Given the description of an element on the screen output the (x, y) to click on. 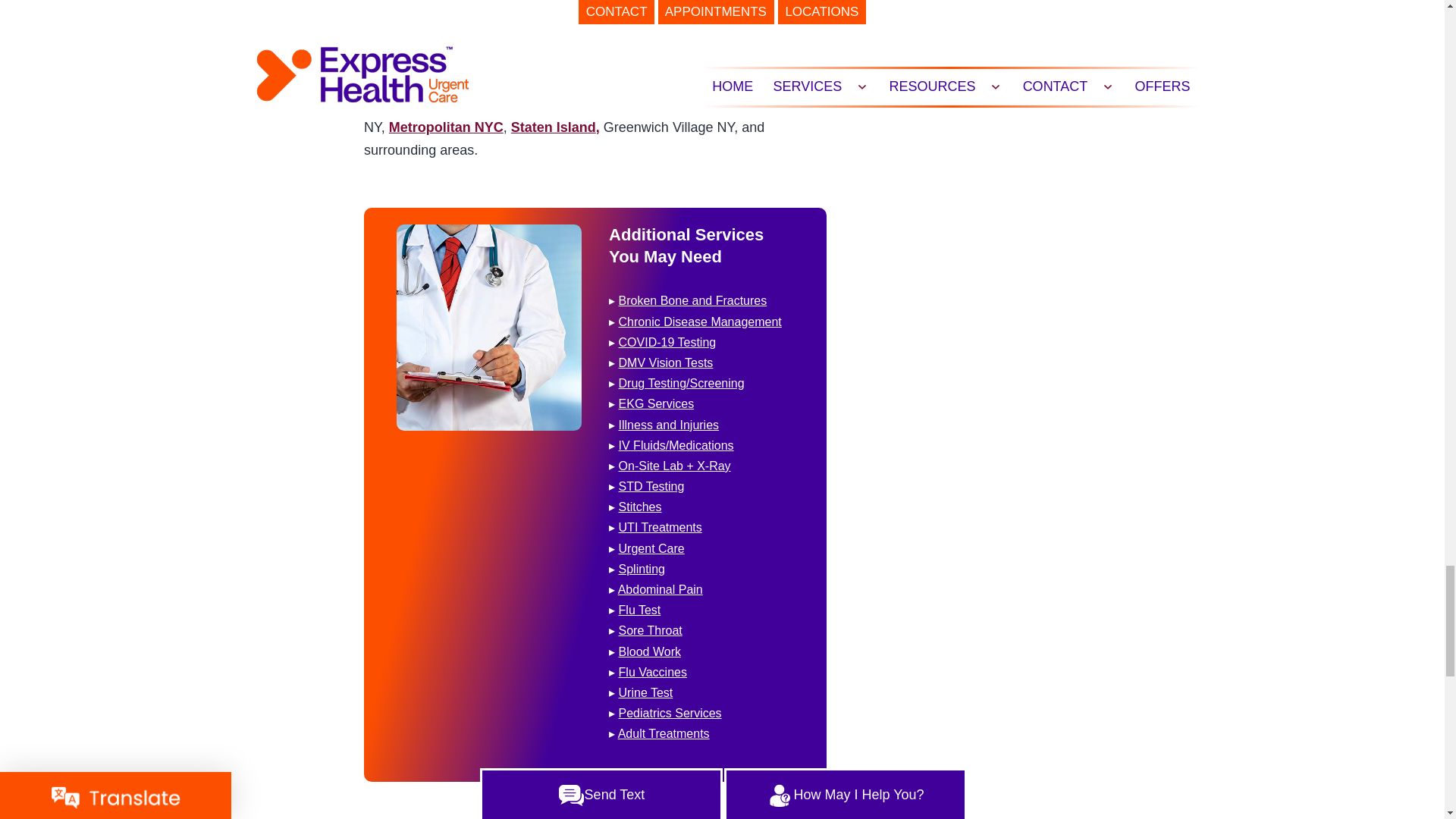
Additional Services at Express Health Urgent Care (488, 326)
